Given the description of an element on the screen output the (x, y) to click on. 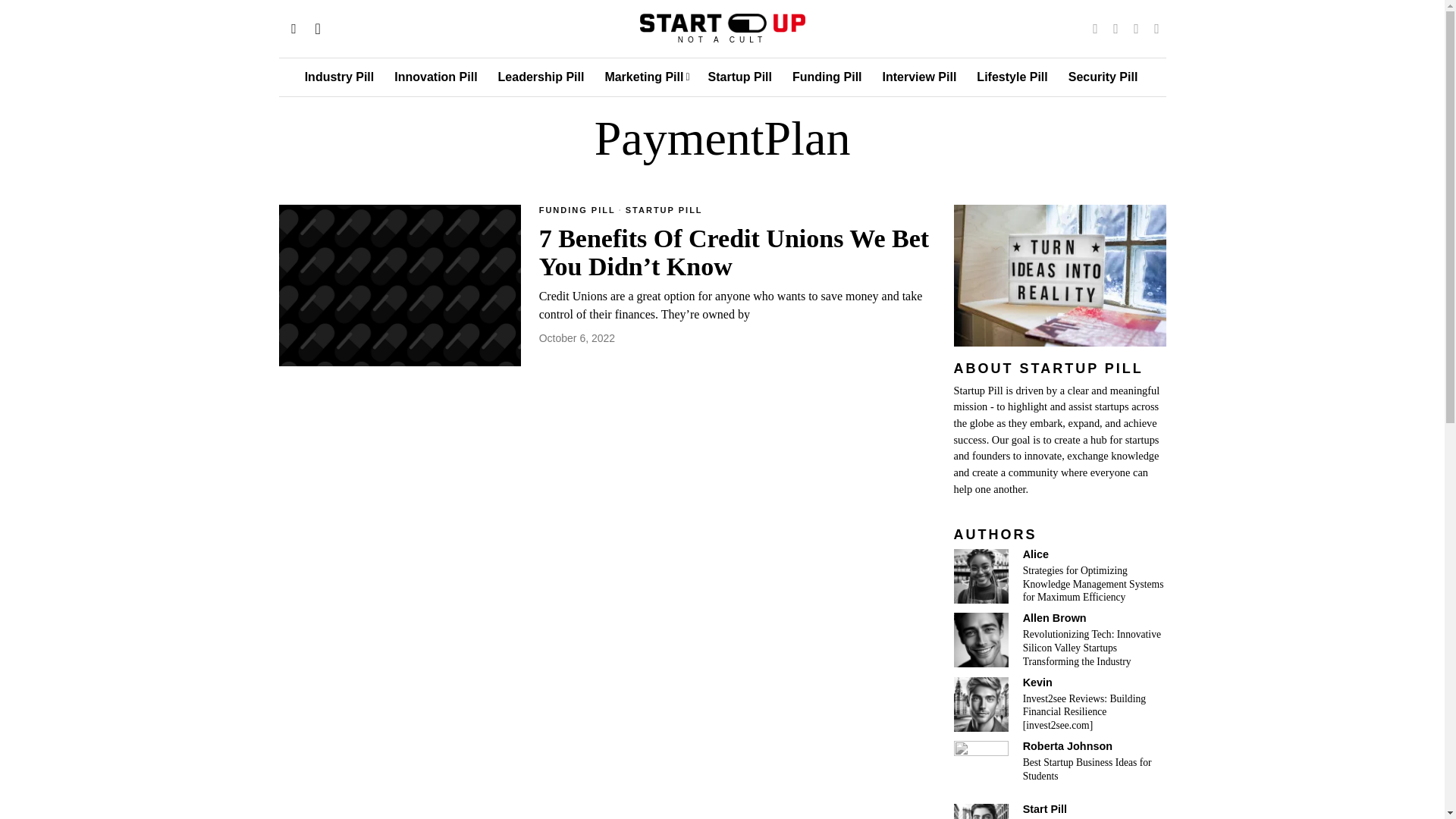
Allen Brown (981, 639)
Leadership Pill (542, 77)
STARTUP PILL (664, 210)
Kevin (981, 704)
Security Pill (1104, 77)
Kevin (1037, 682)
Marketing Pill (646, 77)
06 Oct, 2022 12:11:44 (576, 338)
Allen Brown (1054, 617)
Industry Pill (340, 77)
Innovation Pill (436, 77)
FUNDING PILL (576, 210)
Start Pill (981, 811)
